Given the description of an element on the screen output the (x, y) to click on. 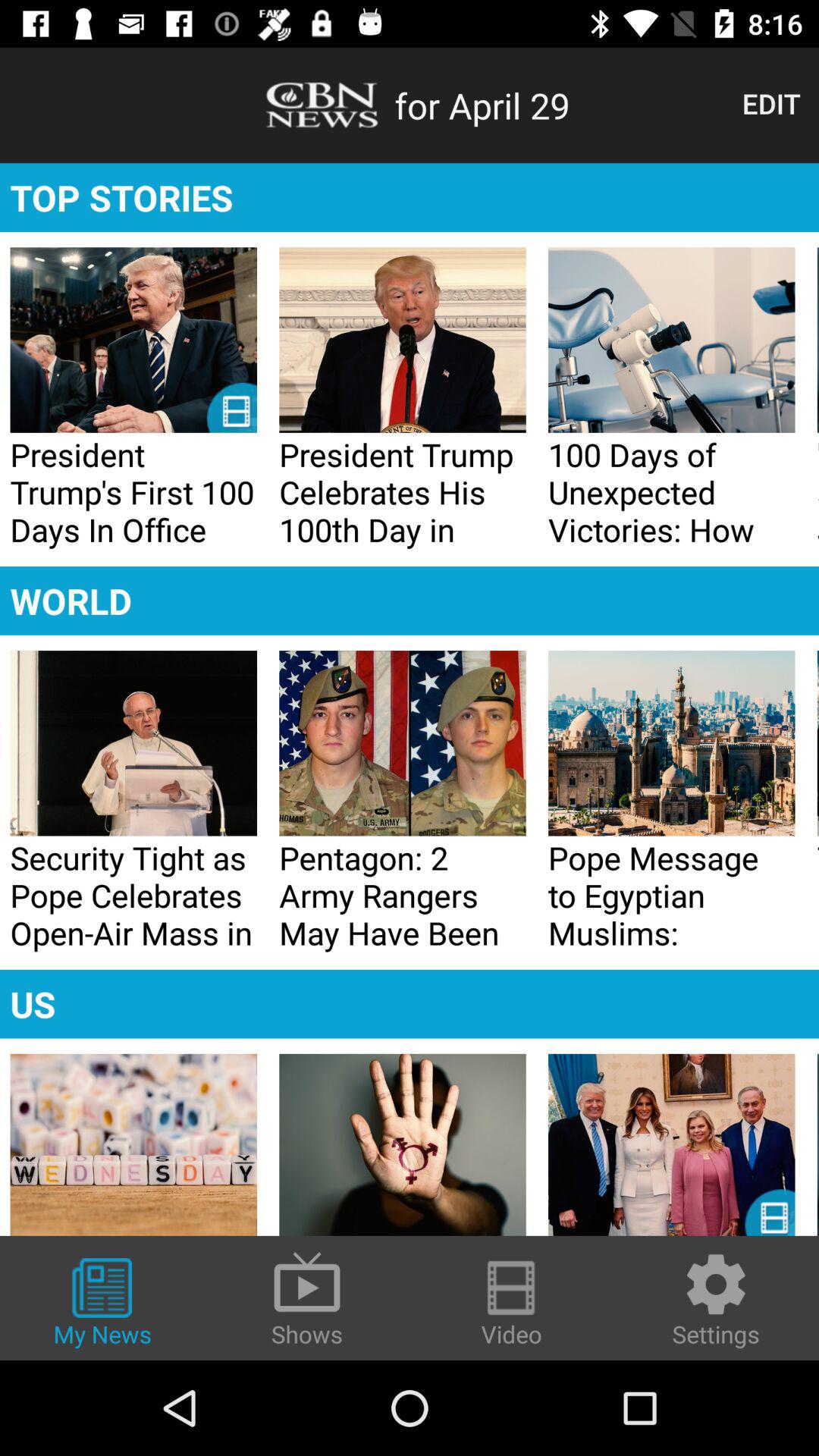
select the item to the right of the my news (306, 1298)
